Given the description of an element on the screen output the (x, y) to click on. 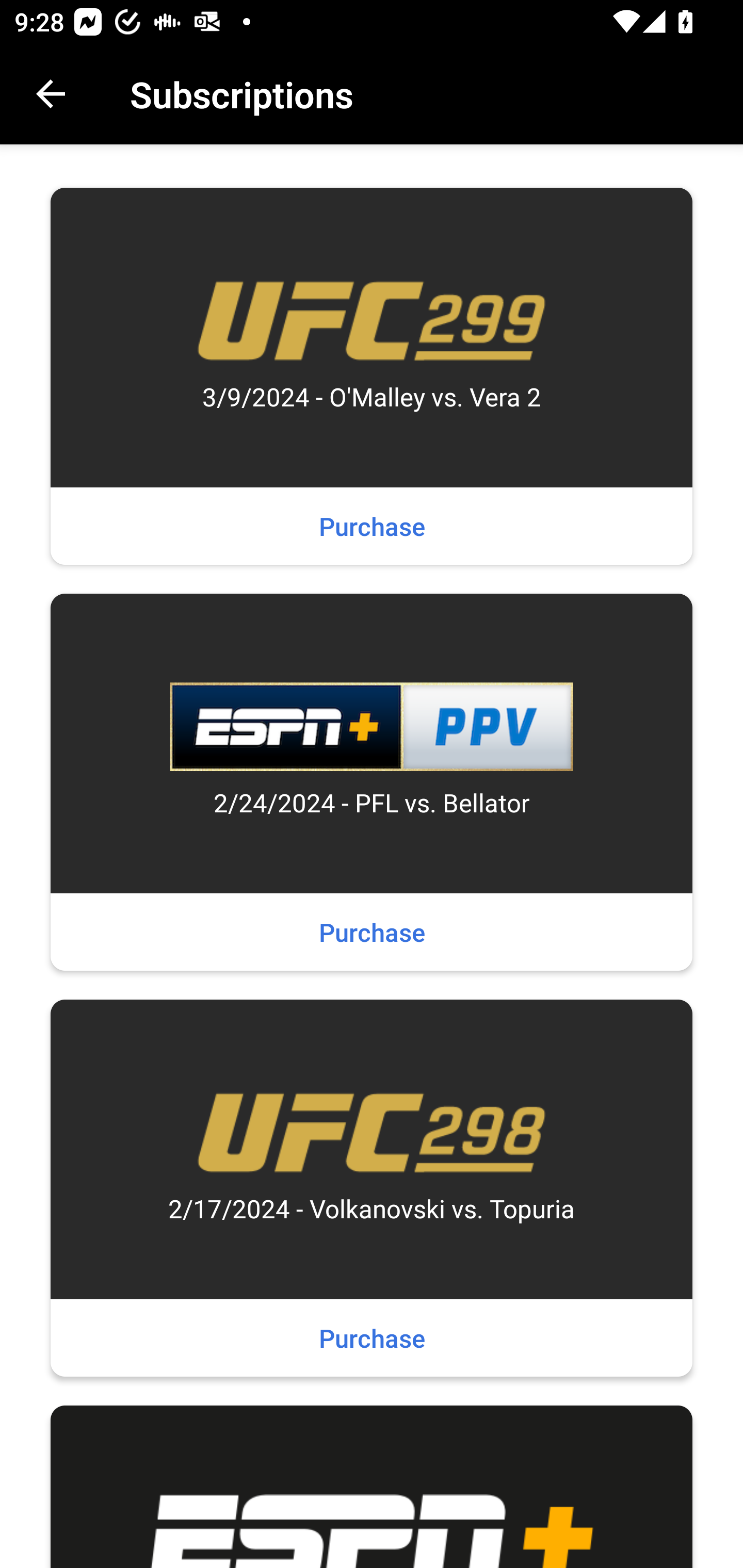
back.button (50, 93)
Purchase (371, 525)
Purchase (371, 932)
Purchase (371, 1338)
